Given the description of an element on the screen output the (x, y) to click on. 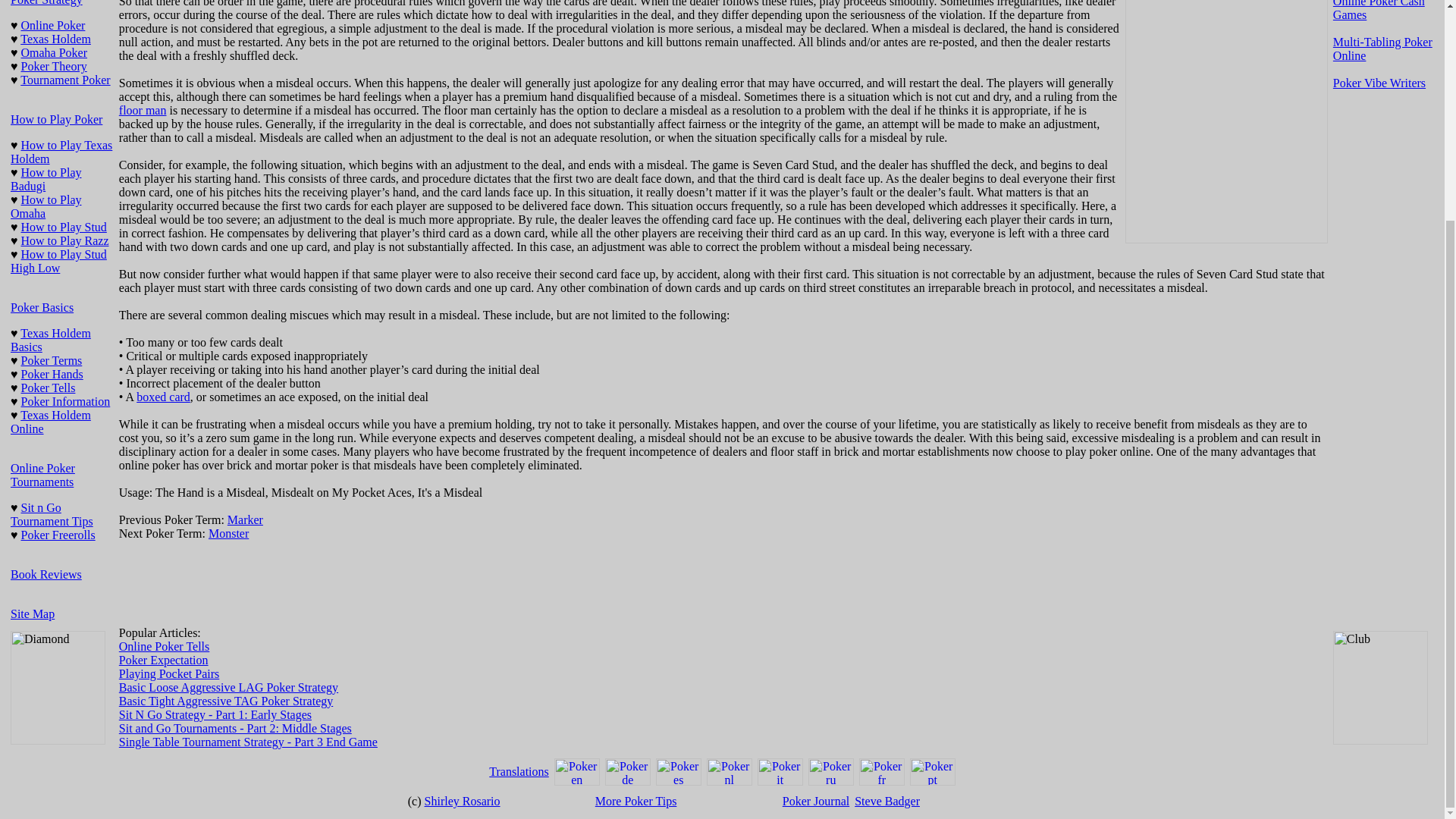
Monster (228, 533)
boxed card (163, 396)
Poker Freerolls (58, 534)
Marker (245, 519)
How to Play Texas Holdem (61, 151)
How to Play Poker (55, 119)
How to Play Omaha (45, 206)
Omaha Poker (54, 51)
Texas Holdem Online (50, 421)
Texas Holdem (55, 38)
Sit n Go Tournament Tips (51, 514)
How to Play Stud (63, 226)
Basic Loose Aggressive LAG Poker Strategy (228, 686)
Poker Terms (51, 359)
Poker Basics (42, 307)
